Given the description of an element on the screen output the (x, y) to click on. 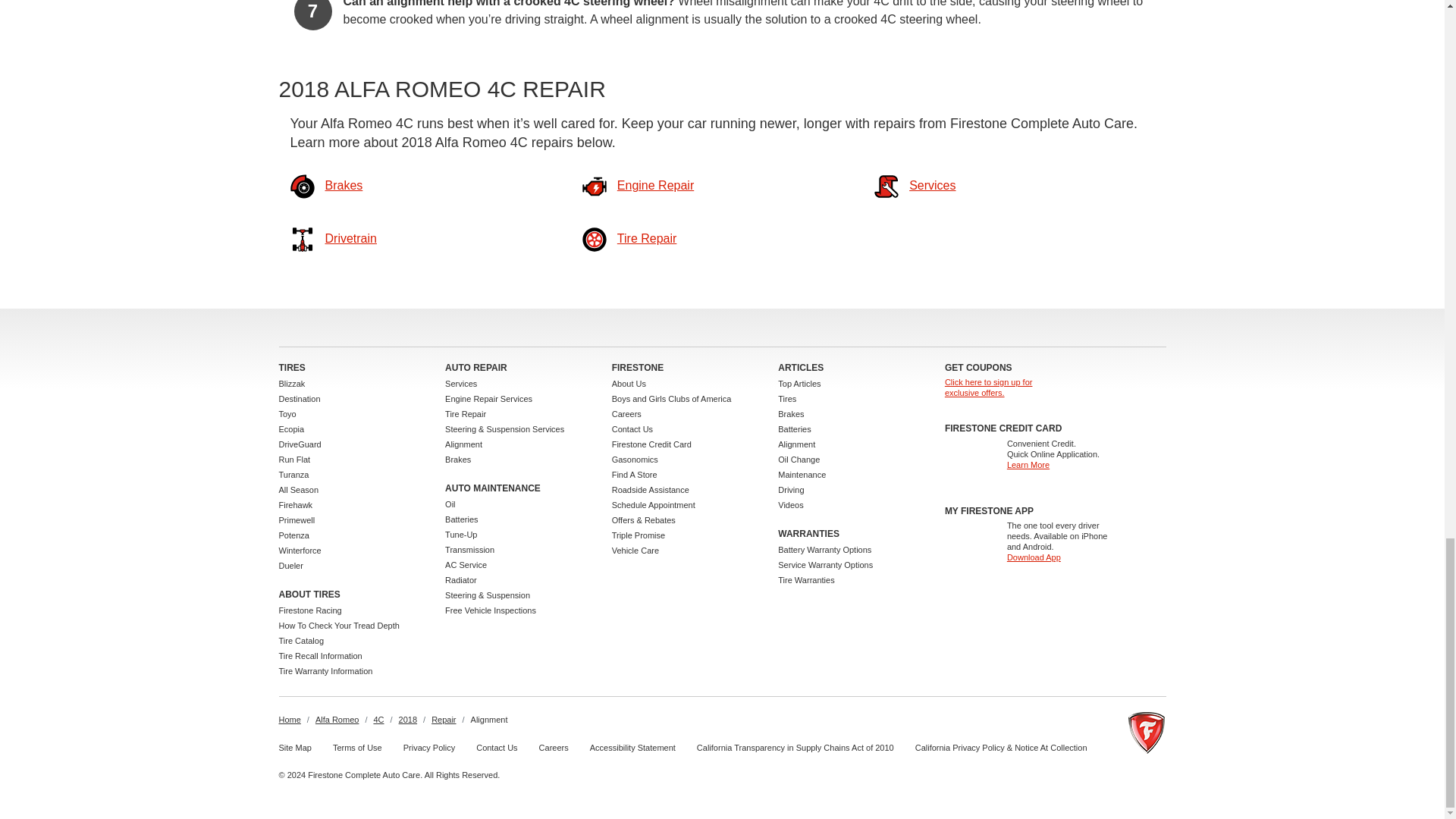
Destination (299, 398)
Run Flat (295, 459)
Services (931, 185)
Tire Repair (647, 238)
Drivetrain (349, 238)
Tire Catalog (301, 640)
Blizzak (292, 383)
Engine Repair (655, 185)
Firestone Racing (310, 610)
Brakes (343, 185)
